Given the description of an element on the screen output the (x, y) to click on. 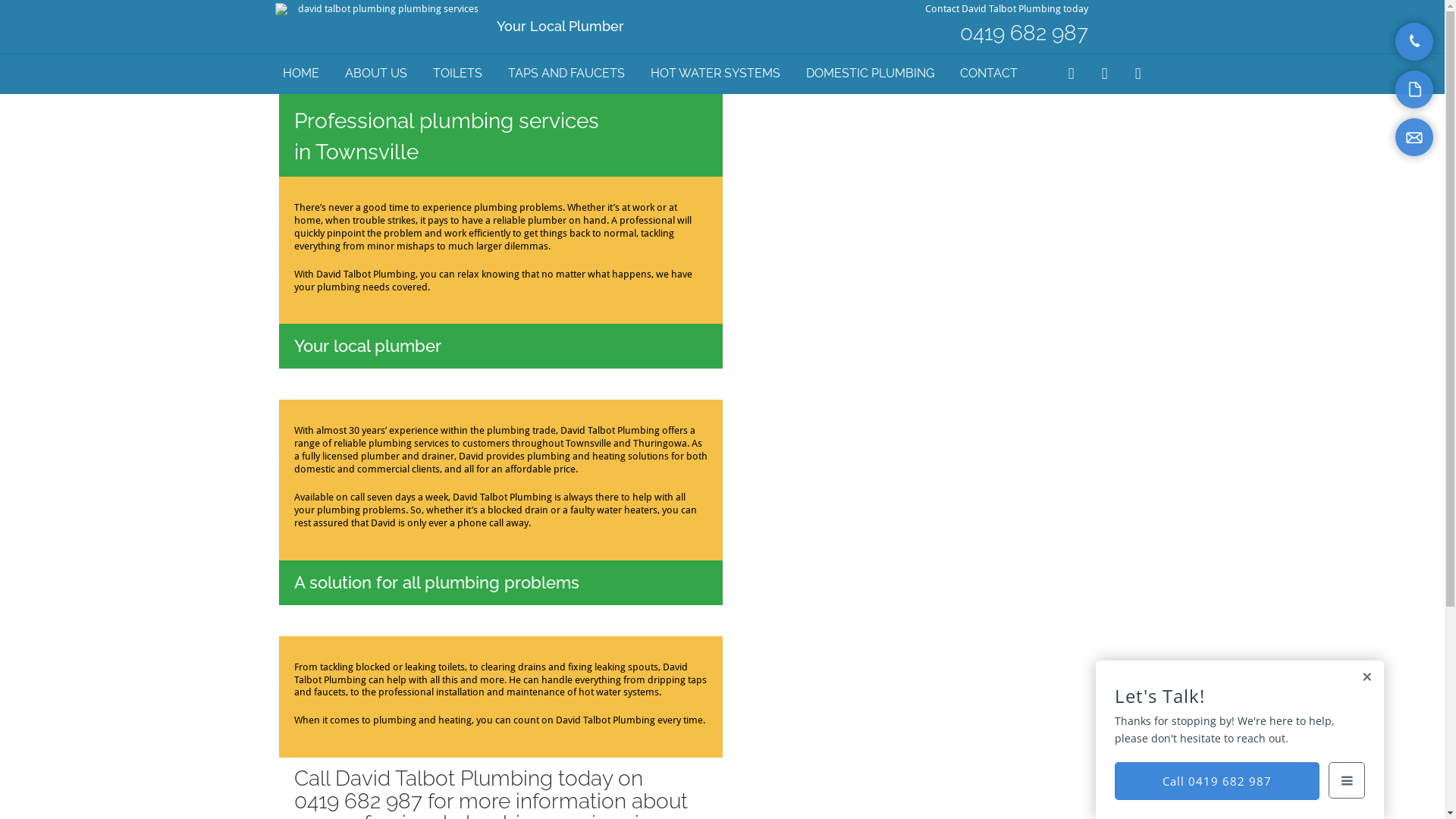
TAPS AND FAUCETS Element type: text (566, 73)
DOMESTIC PLUMBING Element type: text (869, 73)
TOILETS Element type: text (456, 73)
CONTACT Element type: text (988, 73)
HOT WATER SYSTEMS Element type: text (715, 73)
david talbot plumbing plumbing services Element type: hover (381, 9)
ABOUT US Element type: text (375, 73)
Call 0419 682 987 Element type: text (1216, 781)
0419 682 987 Element type: text (1024, 32)
HOME Element type: text (300, 73)
0419 682 987 Element type: text (358, 800)
